Given the description of an element on the screen output the (x, y) to click on. 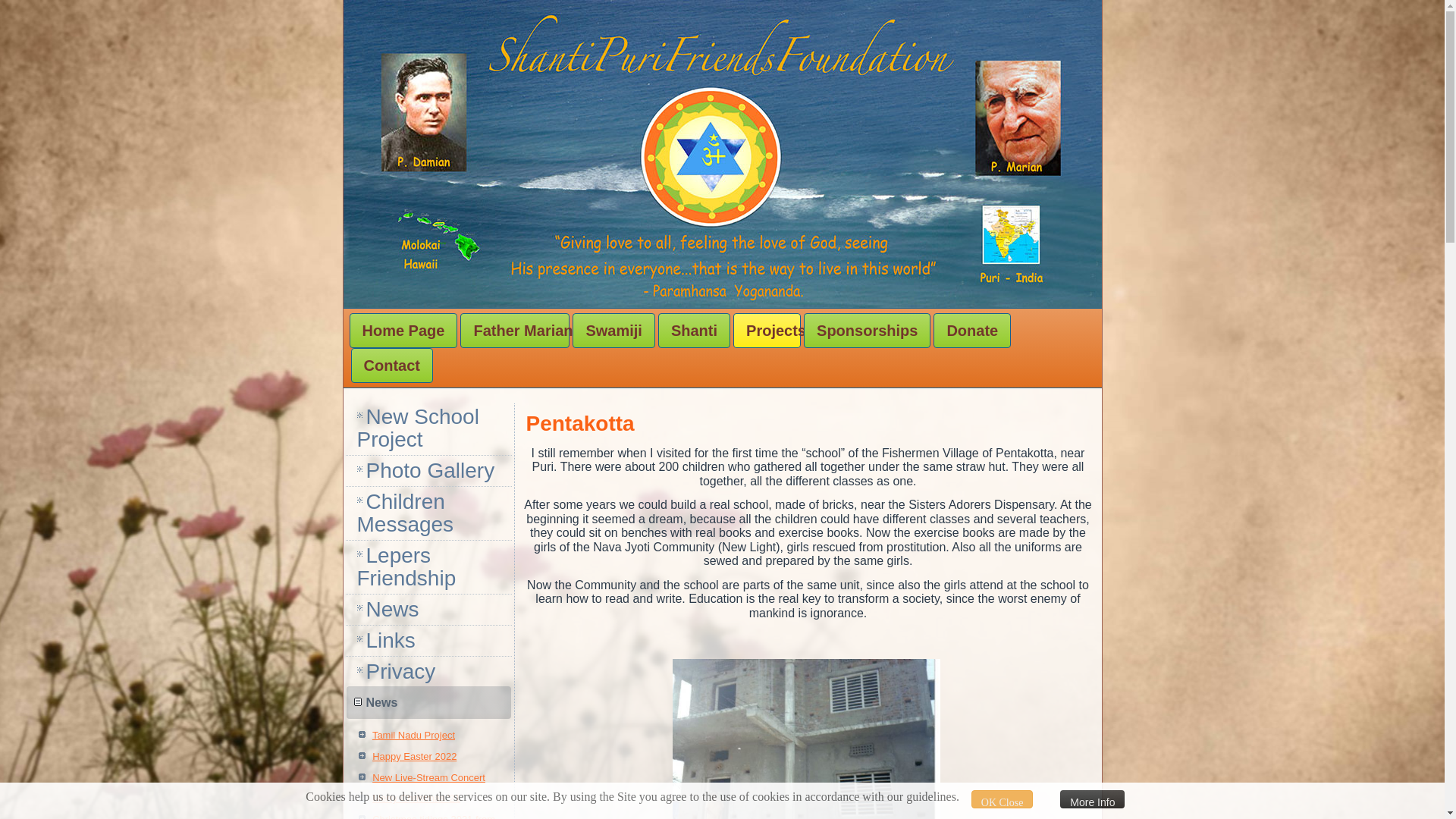
Contact (391, 365)
Donate (971, 330)
Photo Gallery (429, 470)
Projects (766, 330)
Home Page (403, 330)
Swamiji (612, 330)
Father Marian (514, 330)
Sponsorships (866, 330)
Shanti (694, 330)
New School Project (429, 428)
